Given the description of an element on the screen output the (x, y) to click on. 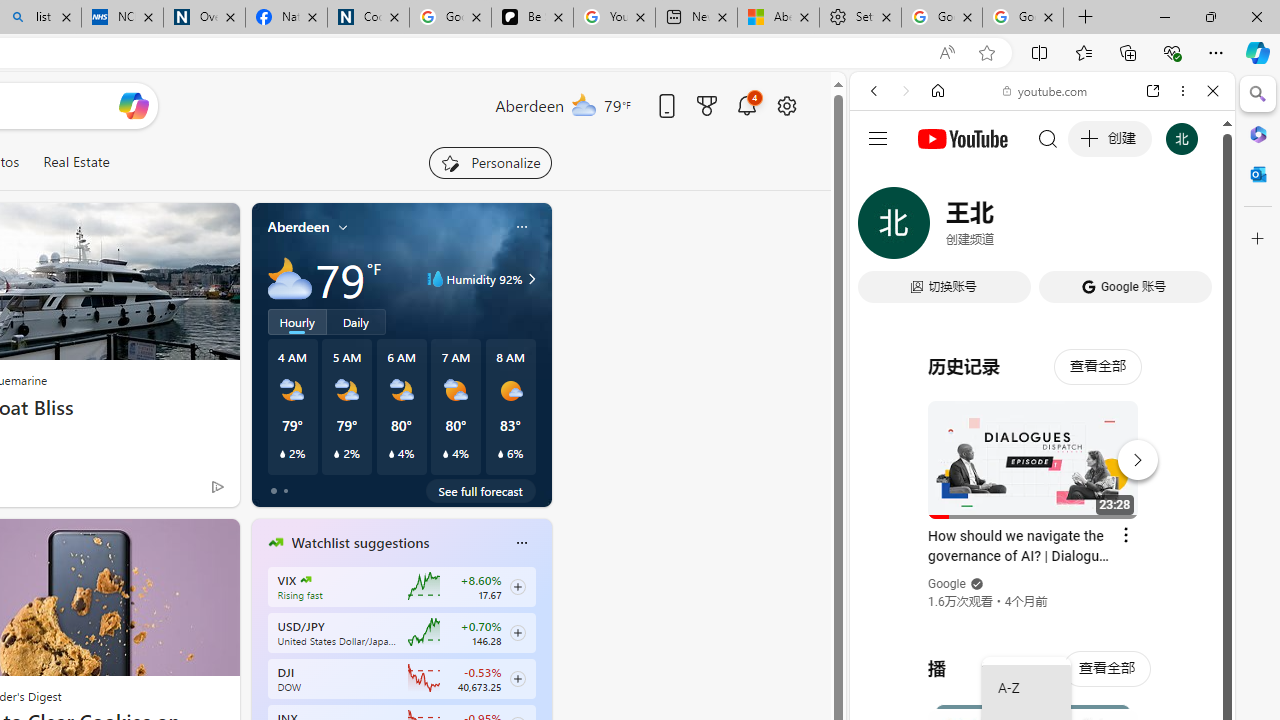
Class: b_serphb (1190, 229)
Class: weather-arrow-glyph (531, 278)
Watchlist suggestions (360, 543)
Real Estate (76, 161)
Mostly cloudy (289, 278)
Humidity 92% (529, 278)
Search Filter, VIDEOS (1006, 228)
YouTube (1034, 296)
